Given the description of an element on the screen output the (x, y) to click on. 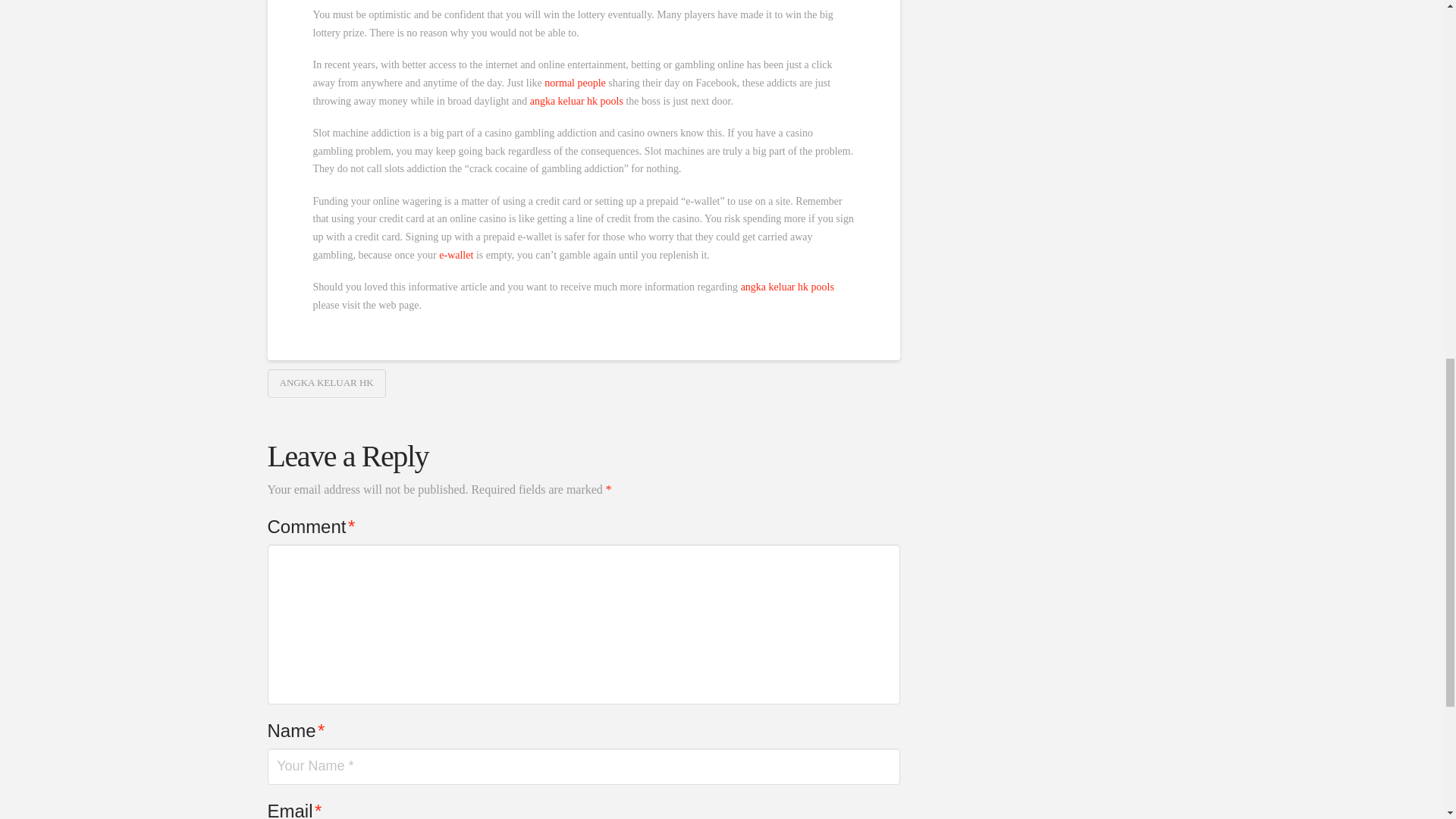
angka keluar hk pools (787, 286)
angka keluar hk pools (576, 101)
e-wallet (456, 255)
normal people (574, 82)
ANGKA KELUAR HK (325, 383)
